Given the description of an element on the screen output the (x, y) to click on. 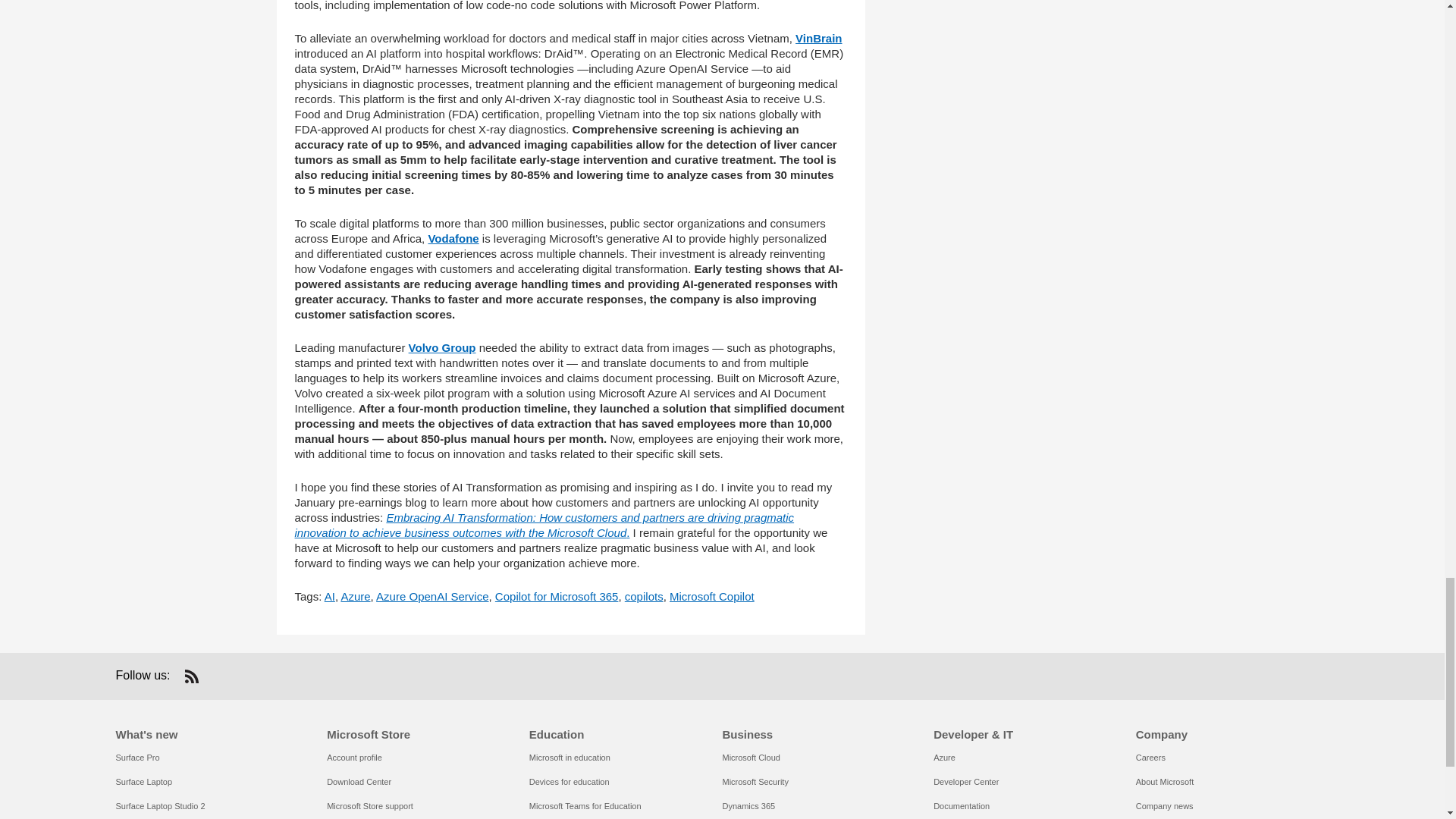
RSS Subscription (191, 676)
